Given the description of an element on the screen output the (x, y) to click on. 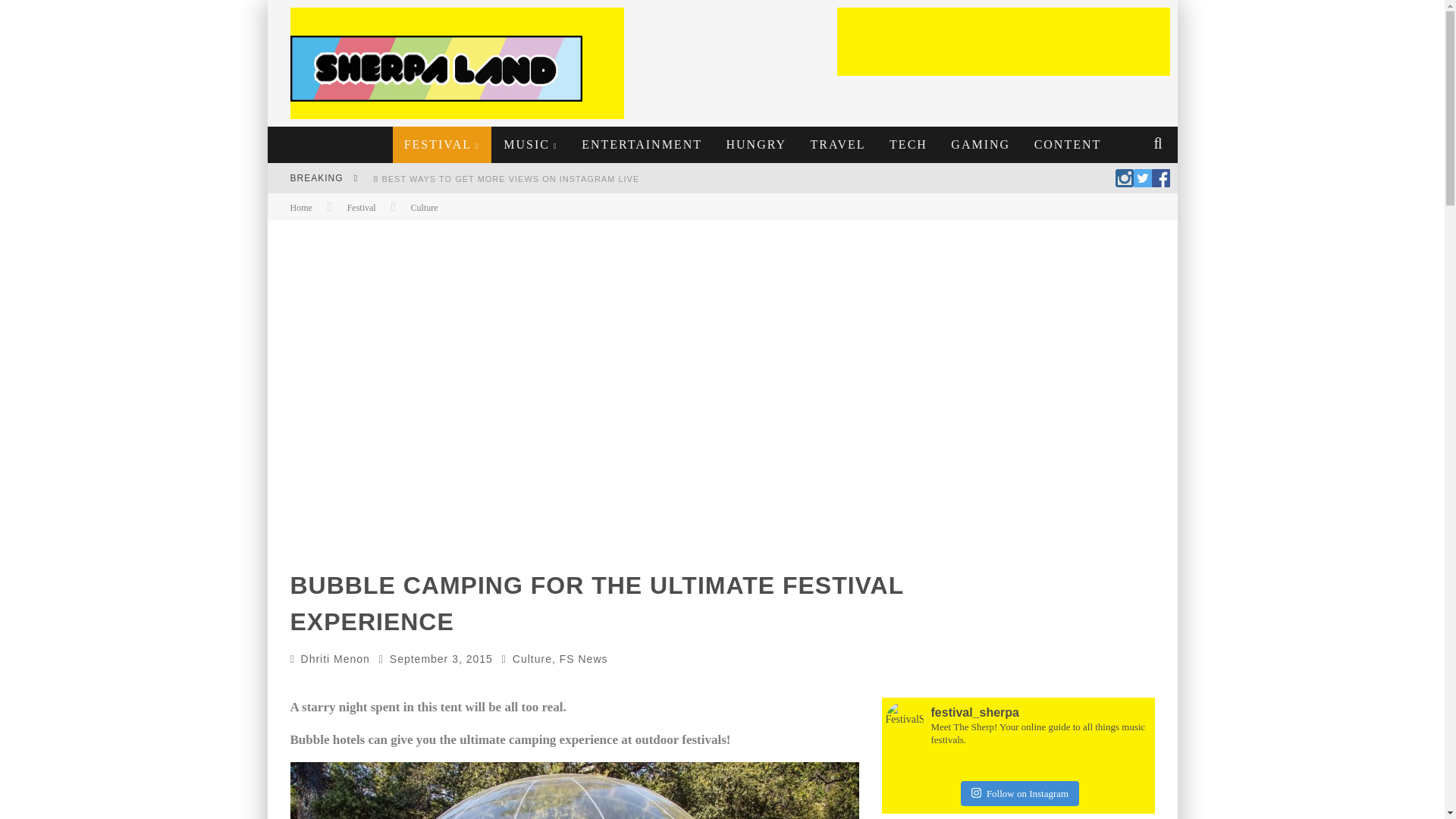
FESTIVAL (442, 144)
Log In (721, 470)
View all posts in Festival (361, 207)
8 Best Ways to Get More Views on Instagram Live (505, 178)
